Given the description of an element on the screen output the (x, y) to click on. 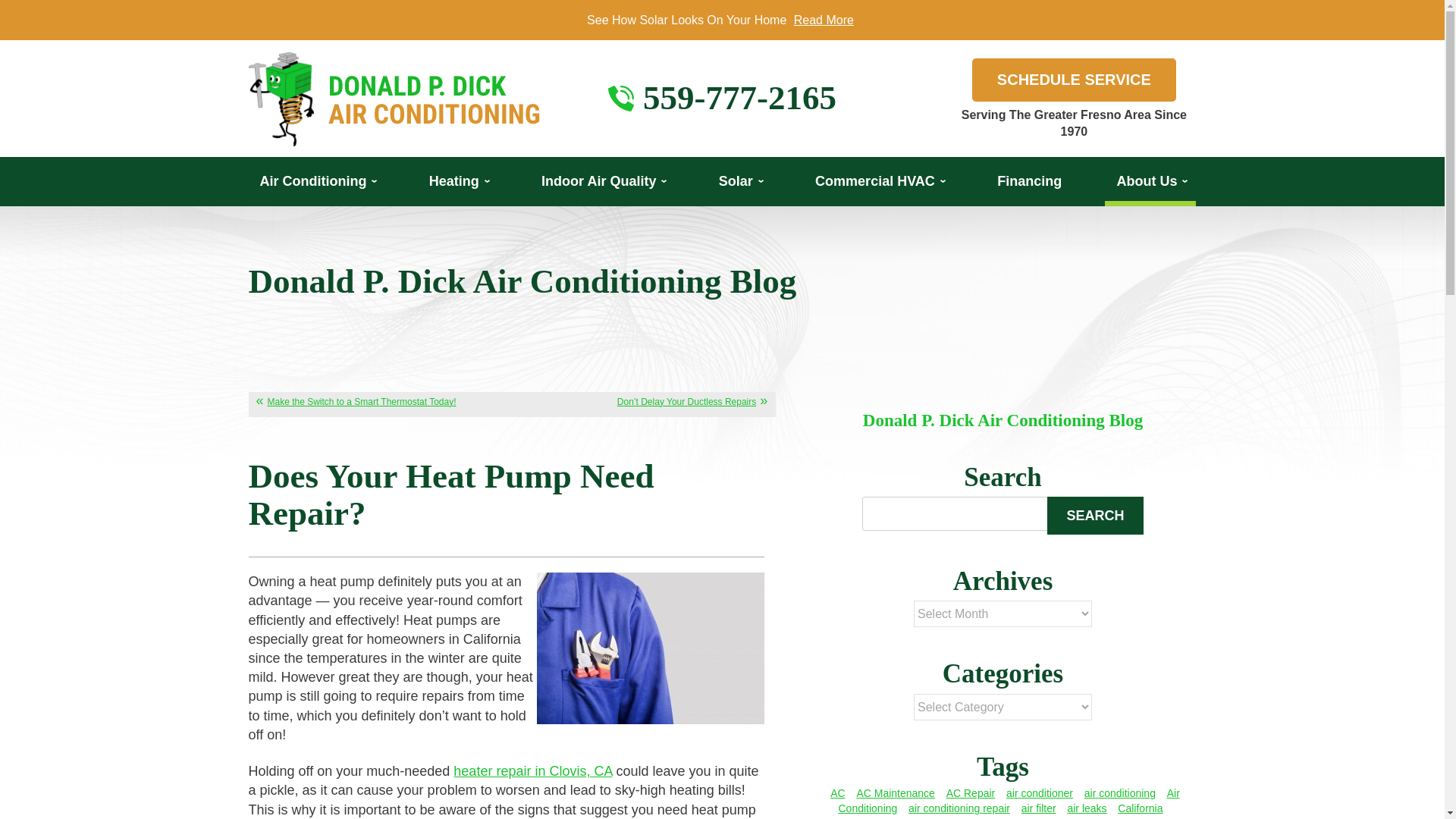
Air Conditioning (316, 181)
SCHEDULE SERVICE (1074, 79)
Indoor Air Quality (602, 181)
Heating (457, 181)
559-777-2165 (739, 97)
Read More (823, 19)
